Given the description of an element on the screen output the (x, y) to click on. 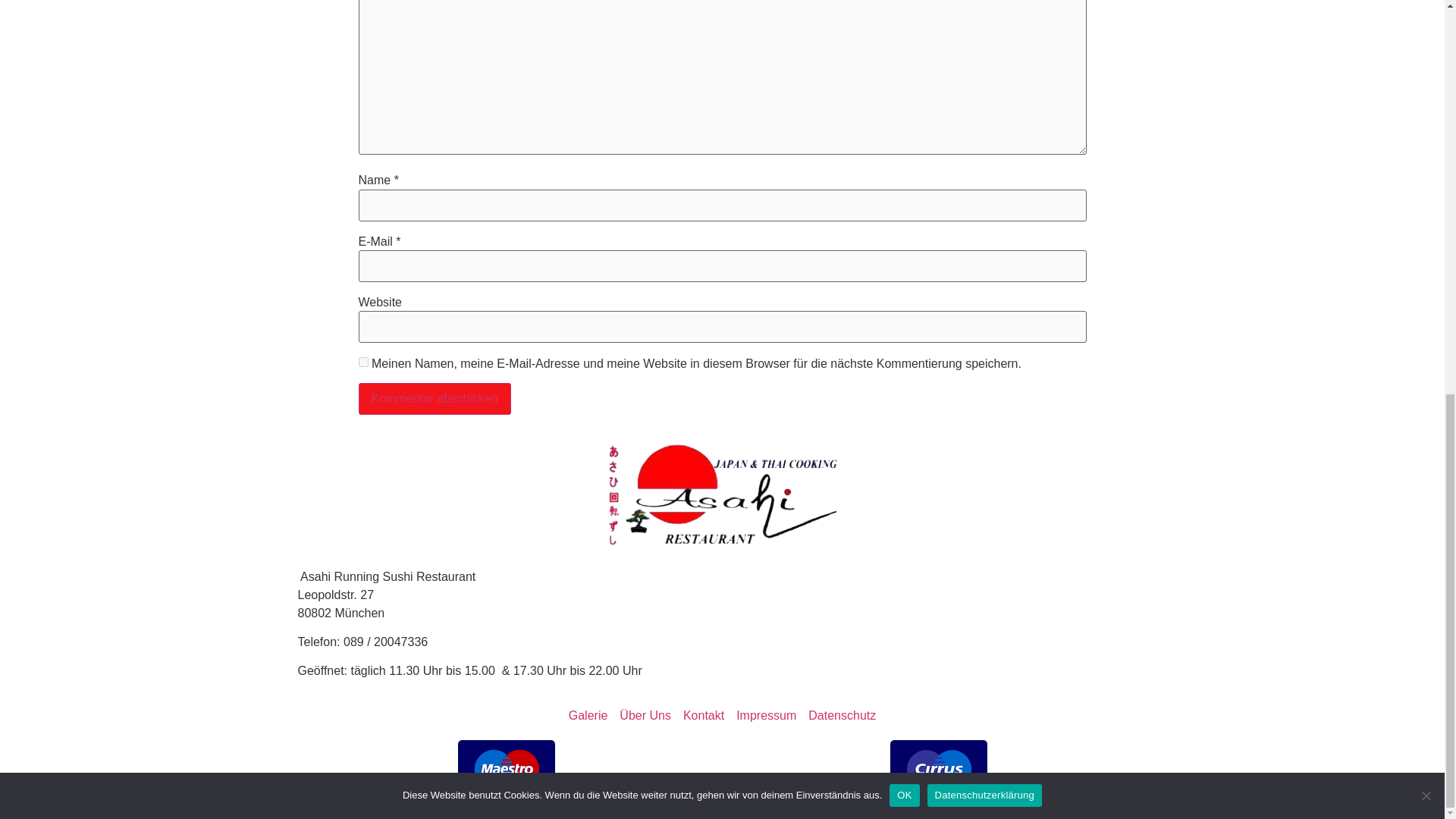
yes (363, 361)
Datenschutz (842, 715)
Kontakt (702, 715)
Kommentar abschicken (434, 398)
OK (903, 36)
Impressum (766, 715)
Kommentar abschicken (434, 398)
Galerie (588, 715)
Nein (1425, 36)
